Given the description of an element on the screen output the (x, y) to click on. 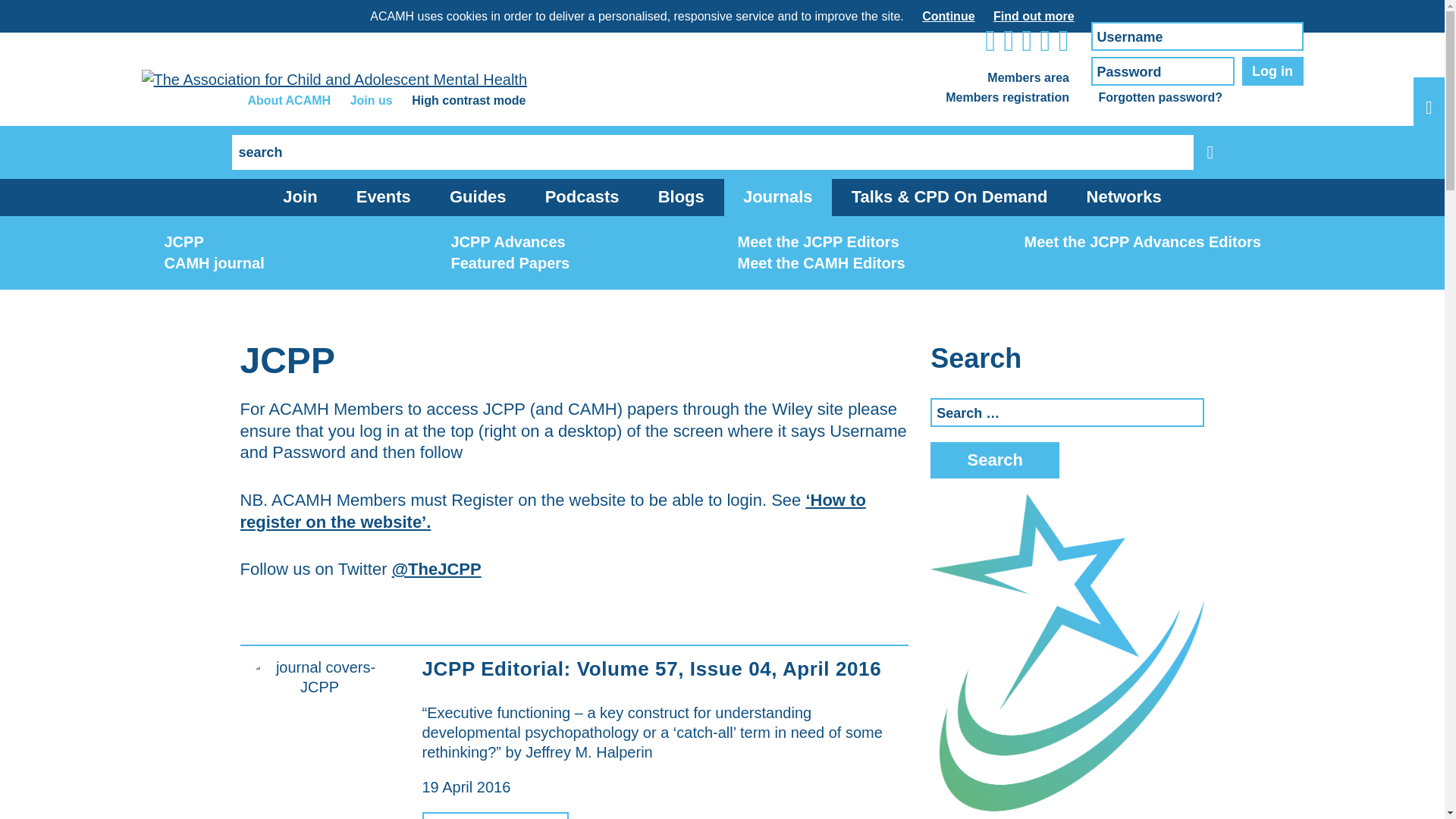
Search for: (712, 152)
Guides (477, 197)
Podcasts (582, 197)
Search (994, 460)
Find out more (1033, 15)
Search (994, 460)
Log in (1272, 70)
About ACAMH (288, 100)
Join us (371, 100)
Blogs (681, 197)
Events (383, 197)
Continue (947, 15)
High contrast mode (468, 100)
Join (299, 197)
